Given the description of an element on the screen output the (x, y) to click on. 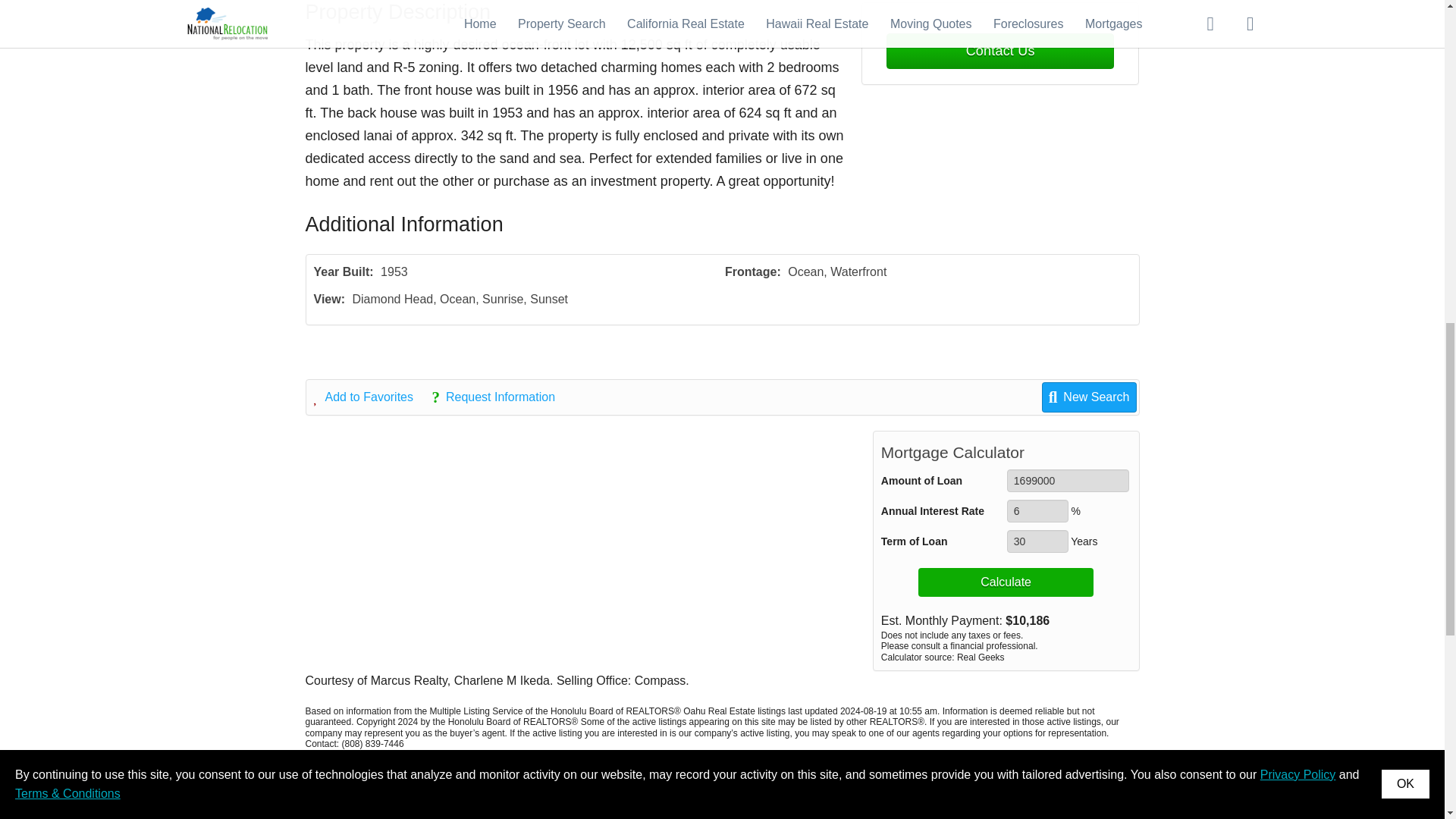
1699000 (1068, 480)
Contact Us (999, 50)
6 (1037, 510)
30 (1037, 540)
